Given the description of an element on the screen output the (x, y) to click on. 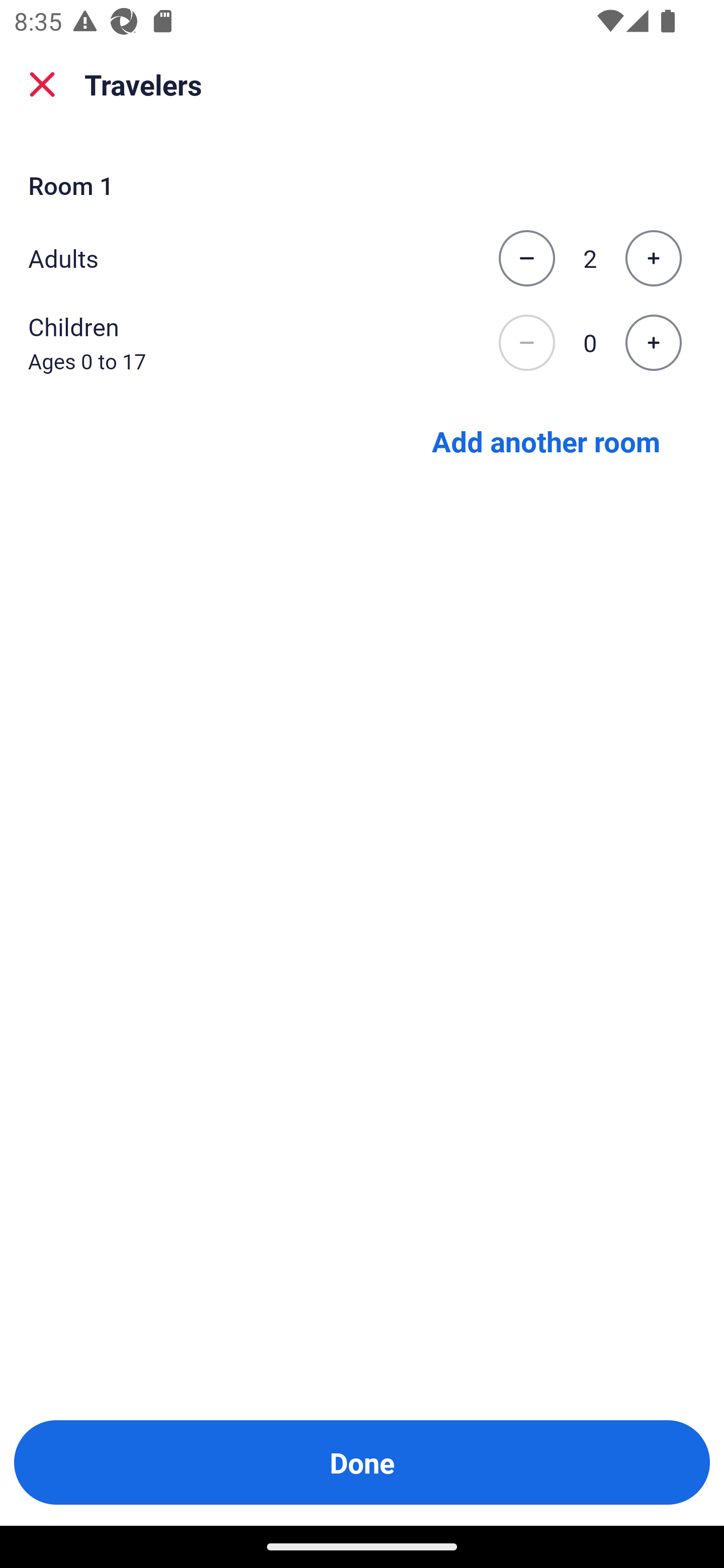
close (42, 84)
Decrease the number of adults (526, 258)
Increase the number of adults (653, 258)
Decrease the number of children (526, 343)
Increase the number of children (653, 343)
Add another room (545, 440)
Done (361, 1462)
